Given the description of an element on the screen output the (x, y) to click on. 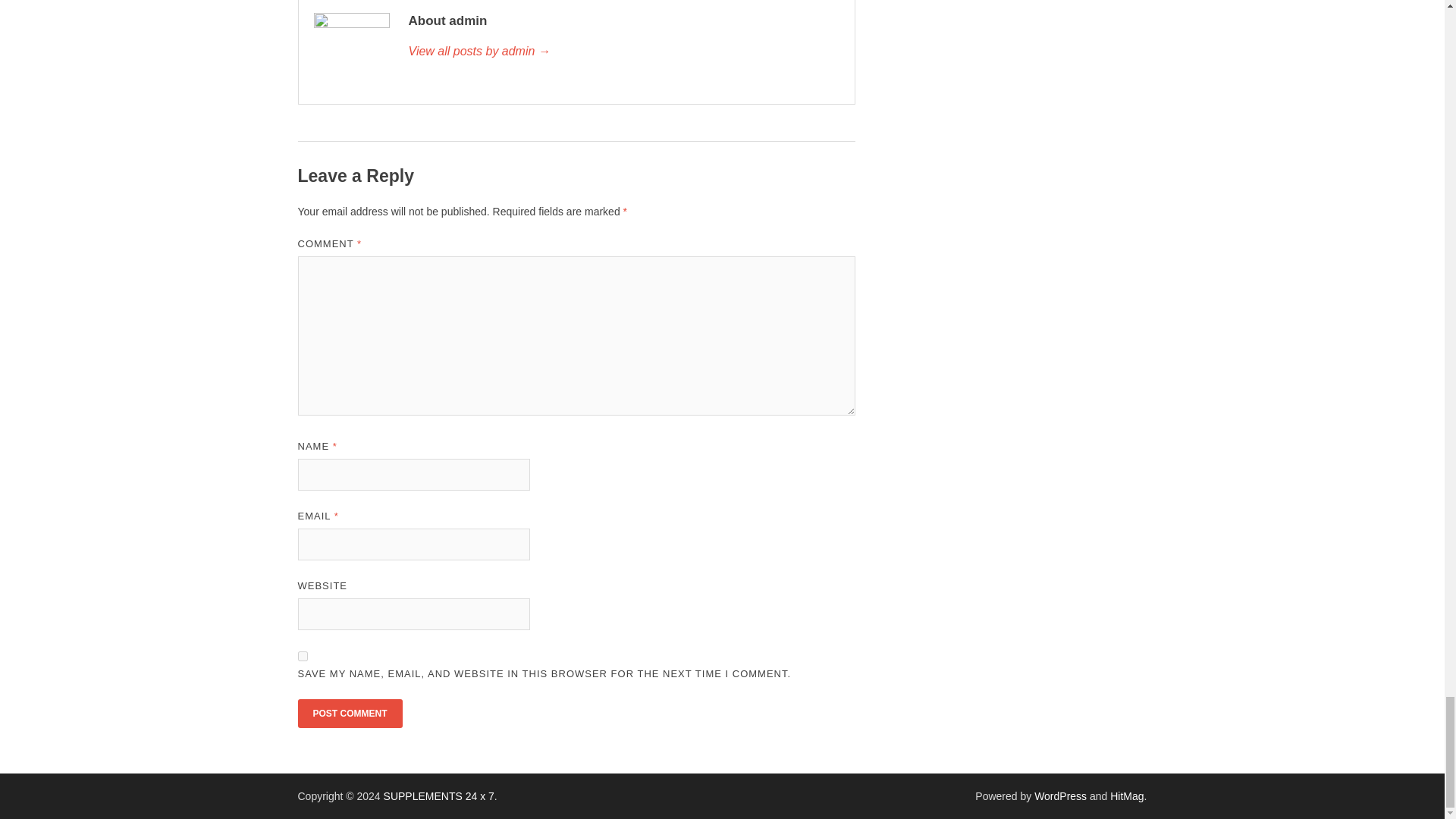
HitMag (1125, 796)
WordPress (1059, 796)
yes (302, 655)
SUPPLEMENTS 24 x 7 (439, 796)
admin (622, 51)
SUPPLEMENTS 24 x 7 (439, 796)
HitMag WordPress Theme (1125, 796)
Post Comment (349, 713)
Post Comment (349, 713)
WordPress (1059, 796)
